Given the description of an element on the screen output the (x, y) to click on. 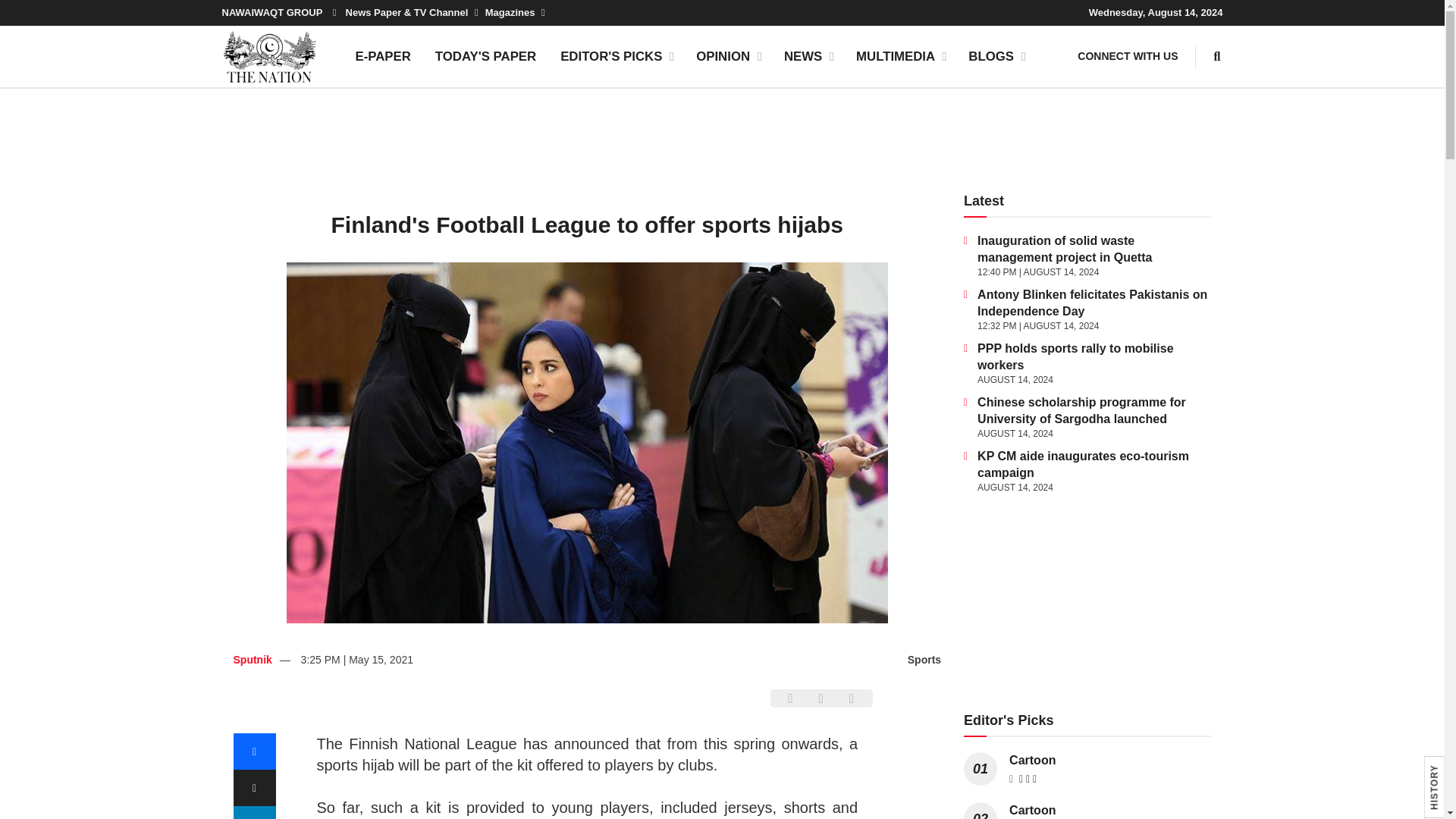
BLOGS (995, 55)
OPINION (727, 55)
EDITOR'S PICKS (616, 55)
E-PAPER (382, 55)
NEWS (807, 55)
MULTIMEDIA (900, 55)
TODAY'S PAPER (485, 55)
Magazines (513, 12)
